Given the description of an element on the screen output the (x, y) to click on. 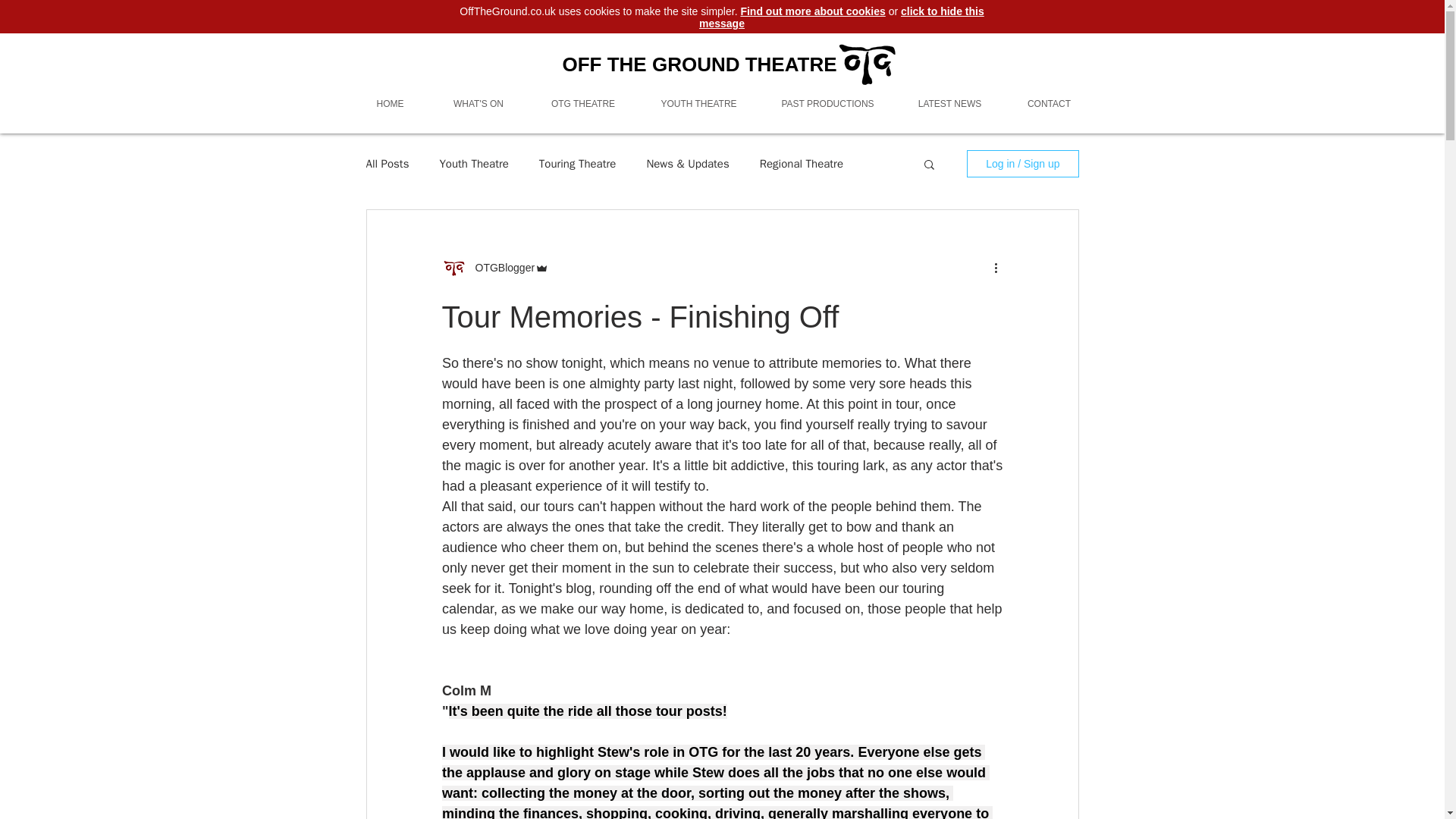
OFF THE GROUND THEATRE (698, 64)
Regional Theatre (801, 163)
LATEST NEWS (950, 104)
All Posts (387, 163)
Find out more about cookies (812, 10)
Touring Theatre (576, 163)
OTGBlogger (499, 267)
HOME (390, 104)
Youth Theatre (473, 163)
WHAT'S ON (478, 104)
PAST PRODUCTIONS (828, 104)
CONTACT (1049, 104)
YOUTH THEATRE (699, 104)
